Given the description of an element on the screen output the (x, y) to click on. 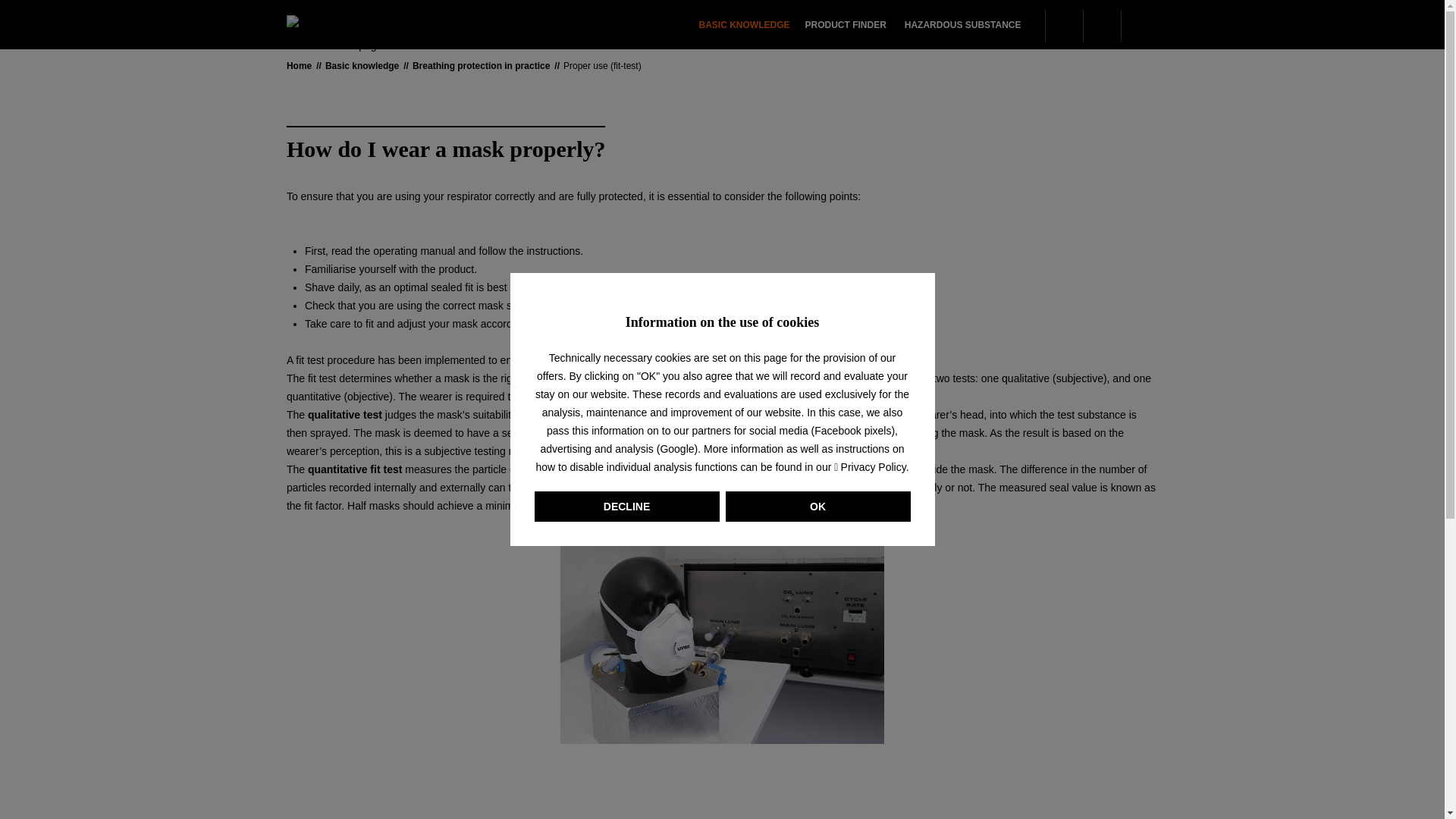
DECLINE (626, 506)
HAZARDOUS SUBSTANCE (862, 24)
PRODUCT FINDER (962, 24)
Privacy Policy (844, 24)
PRODUCT FINDER (869, 467)
Basic knowledge (844, 24)
OK (747, 24)
BASIC KNOWLEDGE (817, 506)
BASIC KNOWLEDGE (747, 24)
HAZARDOUS SUBSTANCE (747, 24)
Product Finder (962, 24)
